Given the description of an element on the screen output the (x, y) to click on. 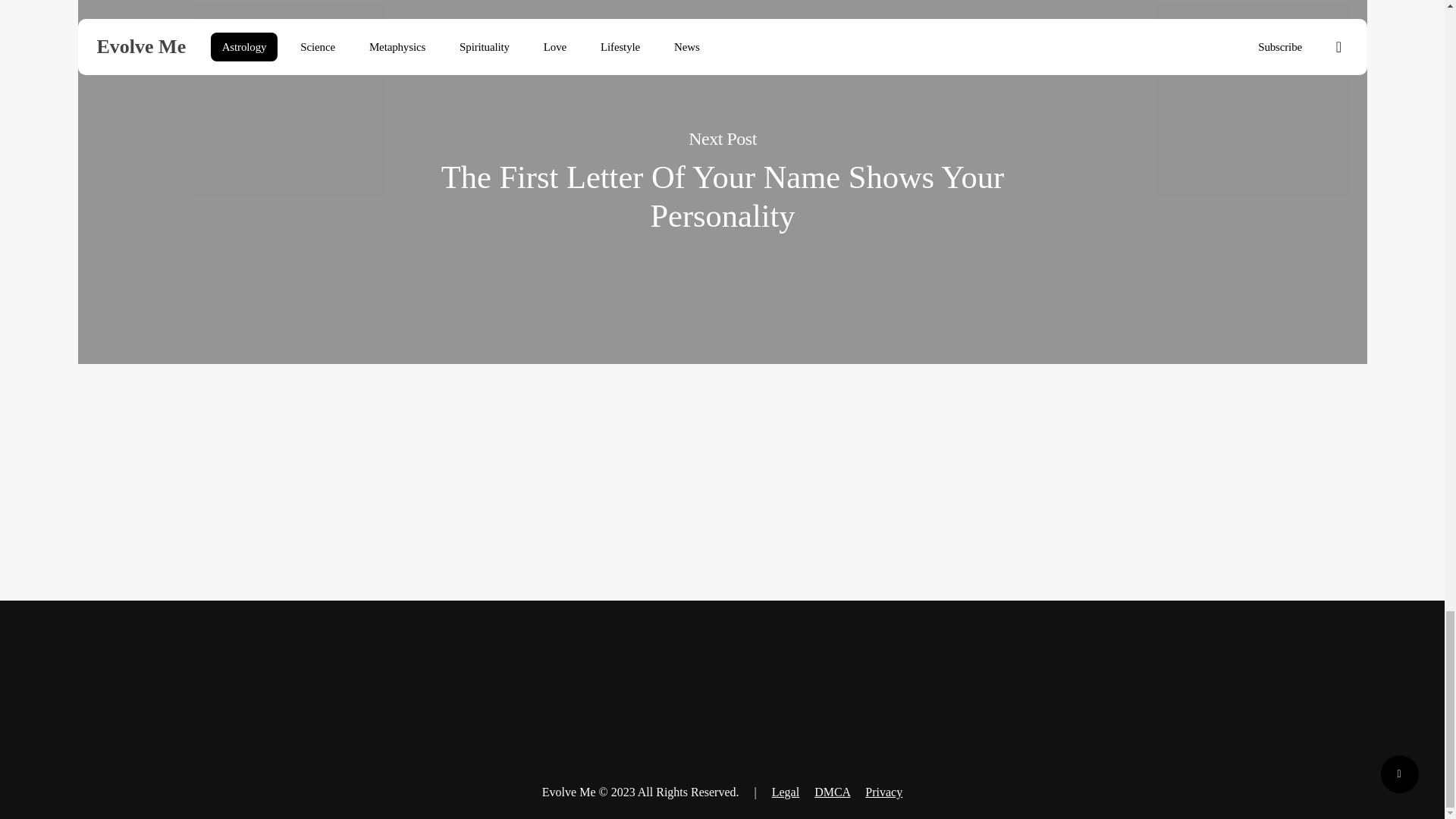
Privacy (883, 791)
DMCA (831, 791)
The First Letter Of Your Name Shows Your Personality (722, 196)
Legal (785, 791)
